Given the description of an element on the screen output the (x, y) to click on. 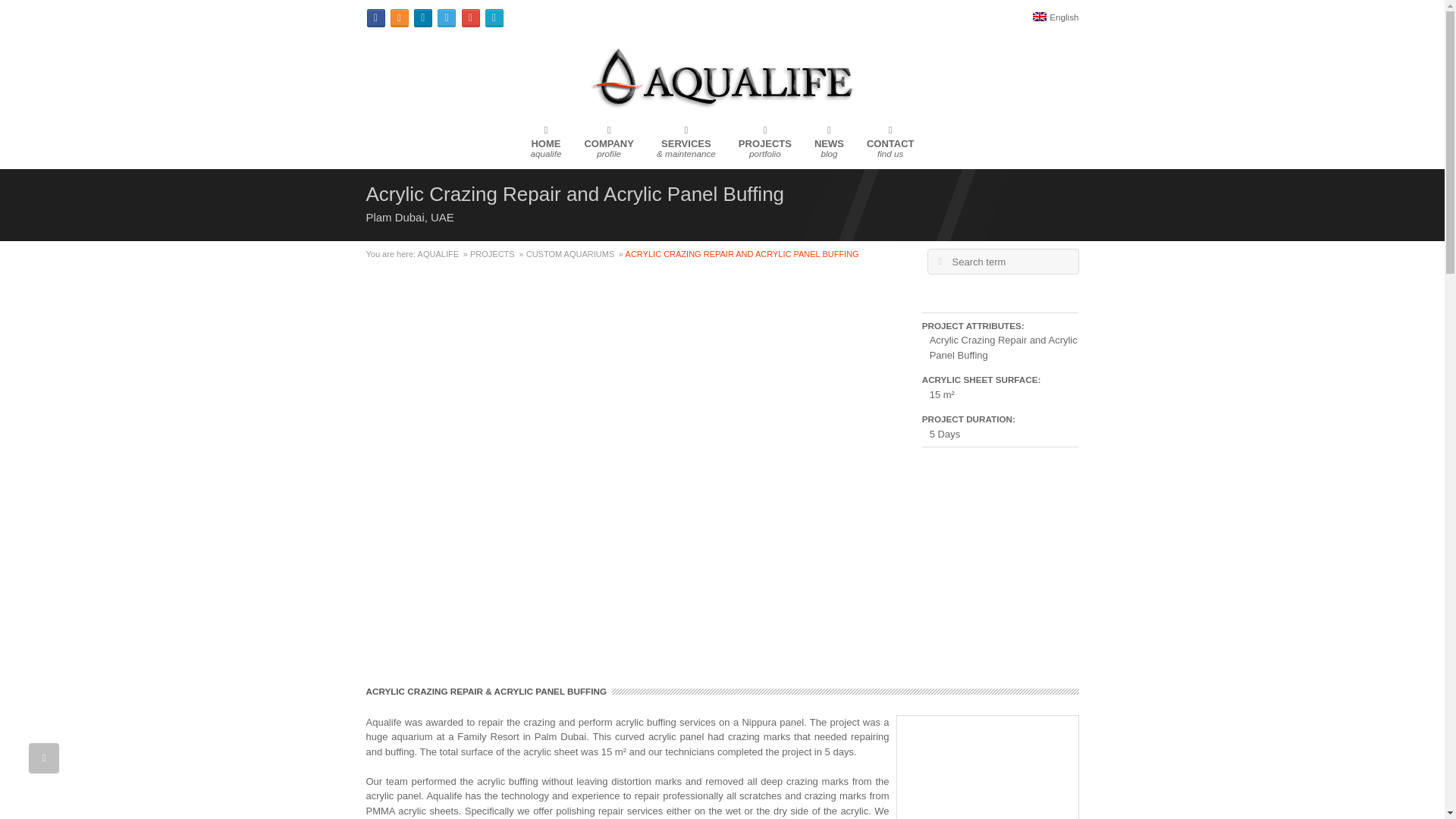
English (765, 145)
PROJECTS (1055, 17)
Aqualife YouTube Channel (494, 253)
Aqualife Twitter Page (890, 145)
Submit (470, 18)
Submit (446, 18)
Commercial Aquarium,  Pond, Animated Fountain Services (939, 261)
AQUALIFE (939, 261)
Aqualife Instagram (686, 145)
CUSTOM AQUARIUMS (608, 145)
Aqualife LinkedIn Profile (439, 253)
Aqualife Facebook Page (399, 18)
